Given the description of an element on the screen output the (x, y) to click on. 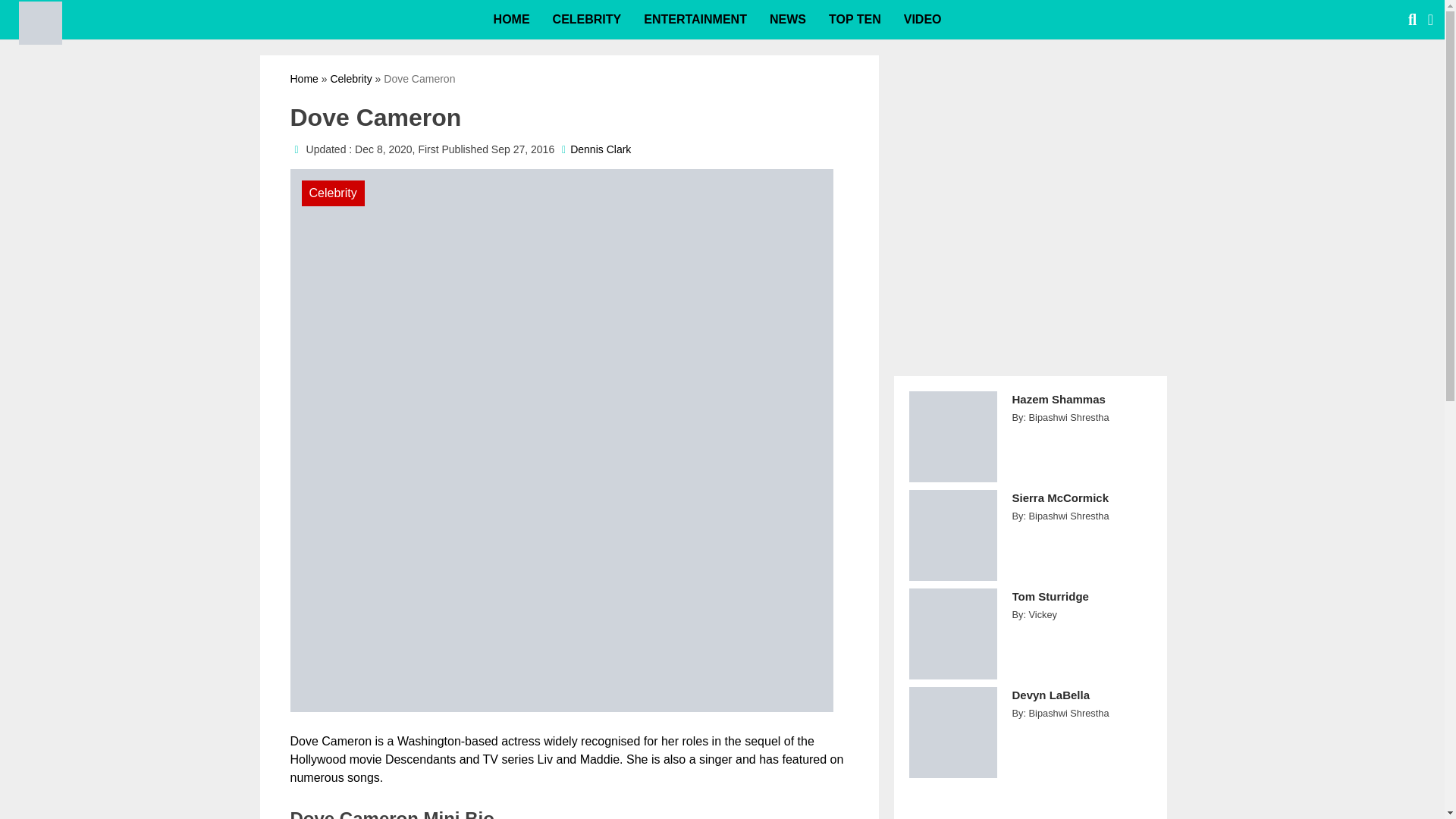
Devyn LaBella (1081, 703)
ENTERTAINMENT (694, 19)
HOME (511, 19)
NEWS (787, 19)
Dennis Clark (600, 149)
CELEBRITY (587, 19)
TOP TEN (854, 19)
Home (303, 78)
Dennis Clark (600, 149)
Sierra McCormick (1081, 505)
